Given the description of an element on the screen output the (x, y) to click on. 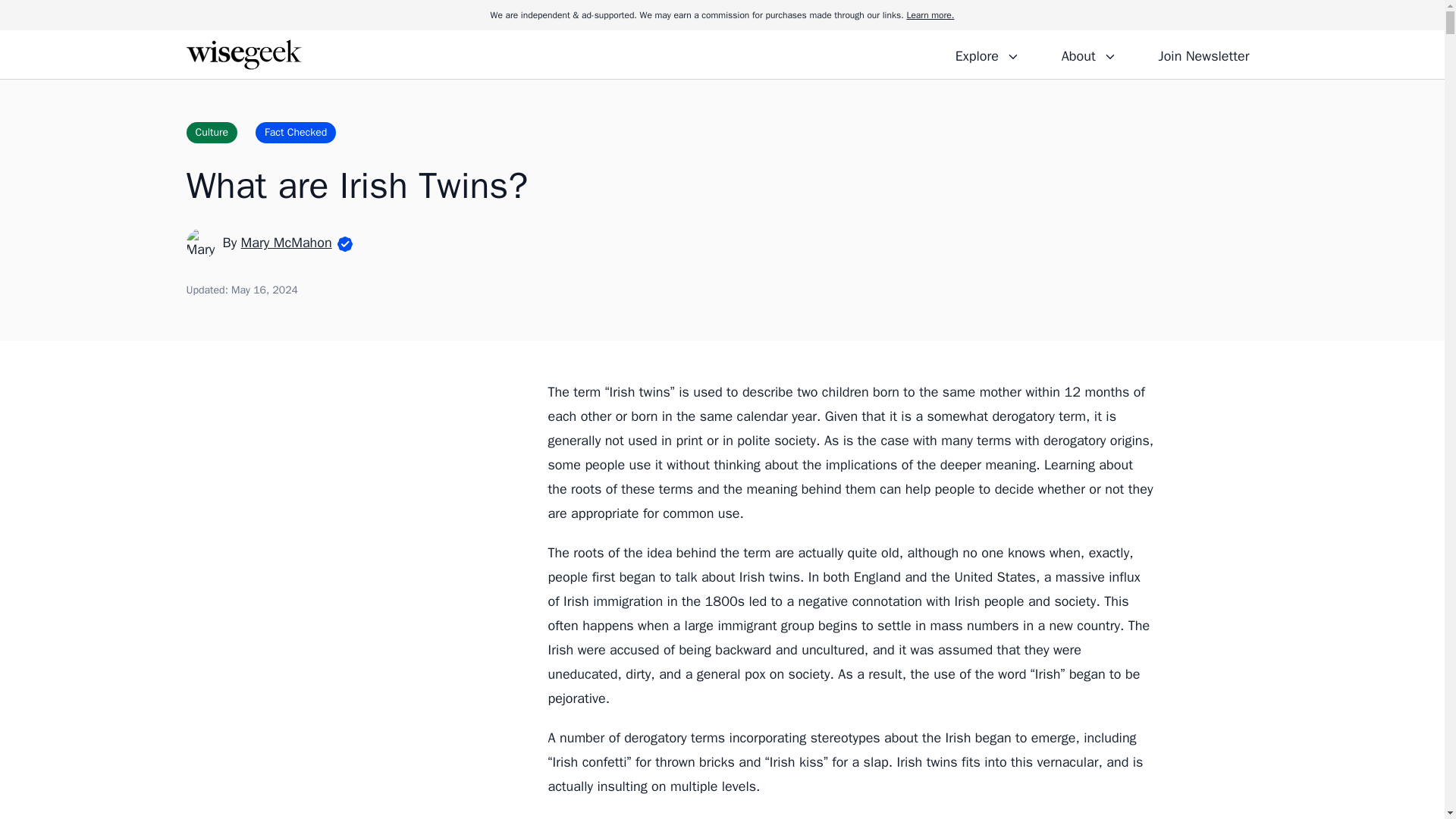
Fact Checked (296, 132)
Mary McMahon (286, 242)
Explore (986, 54)
Join Newsletter (1202, 54)
About (1088, 54)
Culture (212, 132)
Learn more. (929, 15)
